Given the description of an element on the screen output the (x, y) to click on. 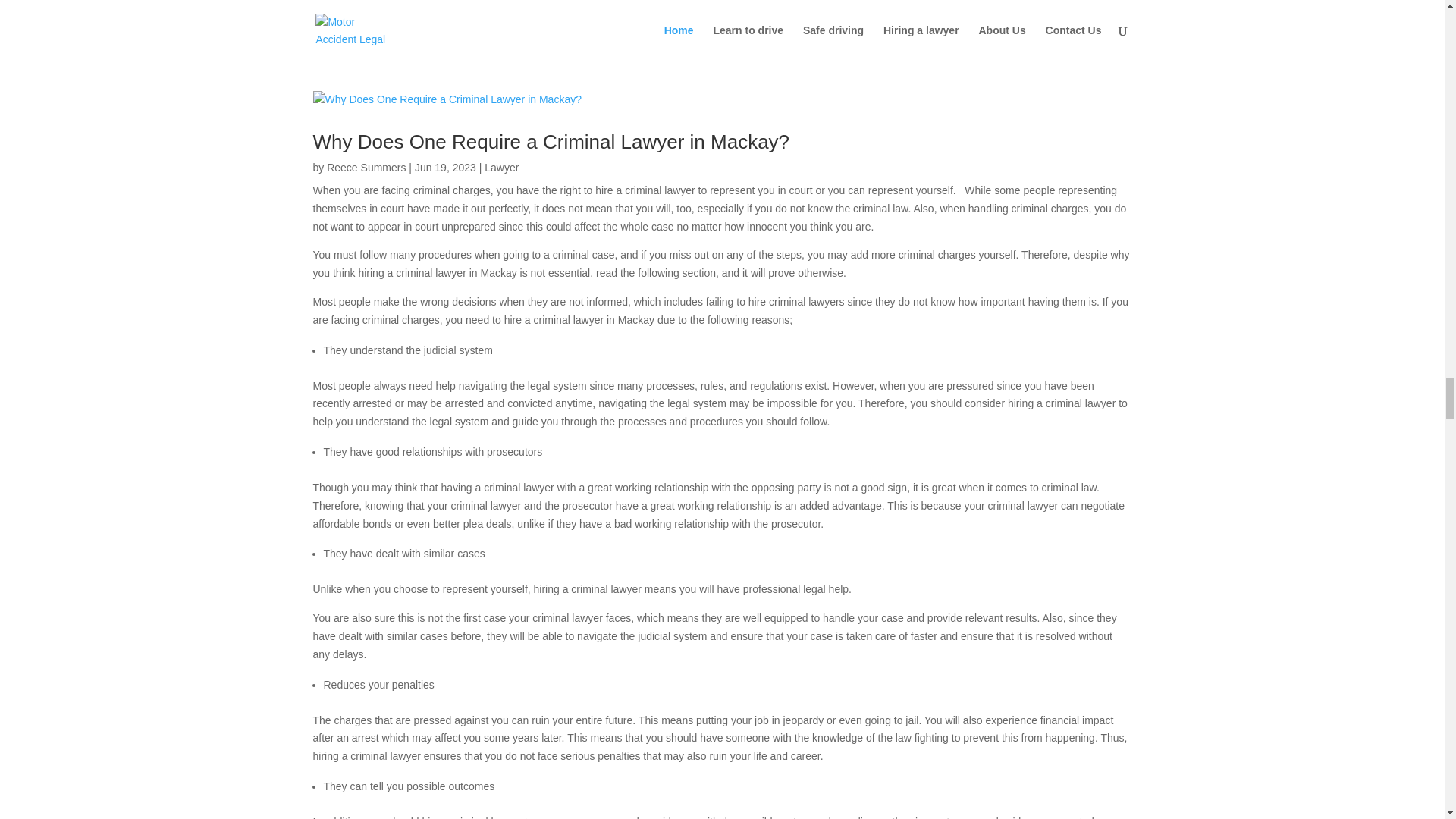
the leading family law experts (382, 18)
Lawyer (501, 167)
Reece Summers (366, 167)
Why Does One Require a Criminal Lawyer in Mackay? (551, 141)
